Given the description of an element on the screen output the (x, y) to click on. 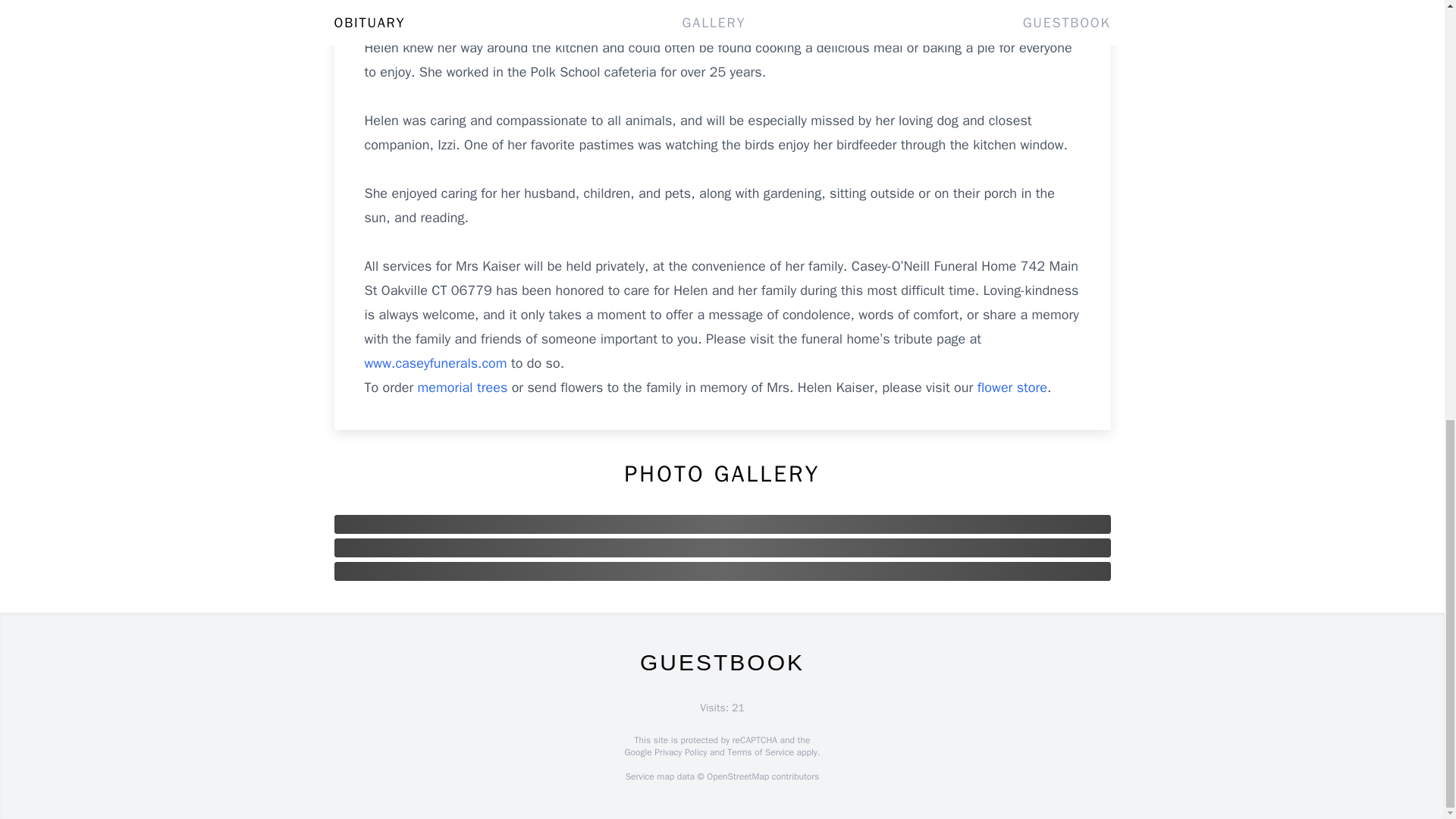
Click to open in a new window or tab (437, 362)
flower store (1011, 387)
OpenStreetMap (737, 776)
memorial trees (462, 387)
Terms of Service (759, 752)
Privacy Policy (679, 752)
www.caseyfunerals.com (437, 362)
